Given the description of an element on the screen output the (x, y) to click on. 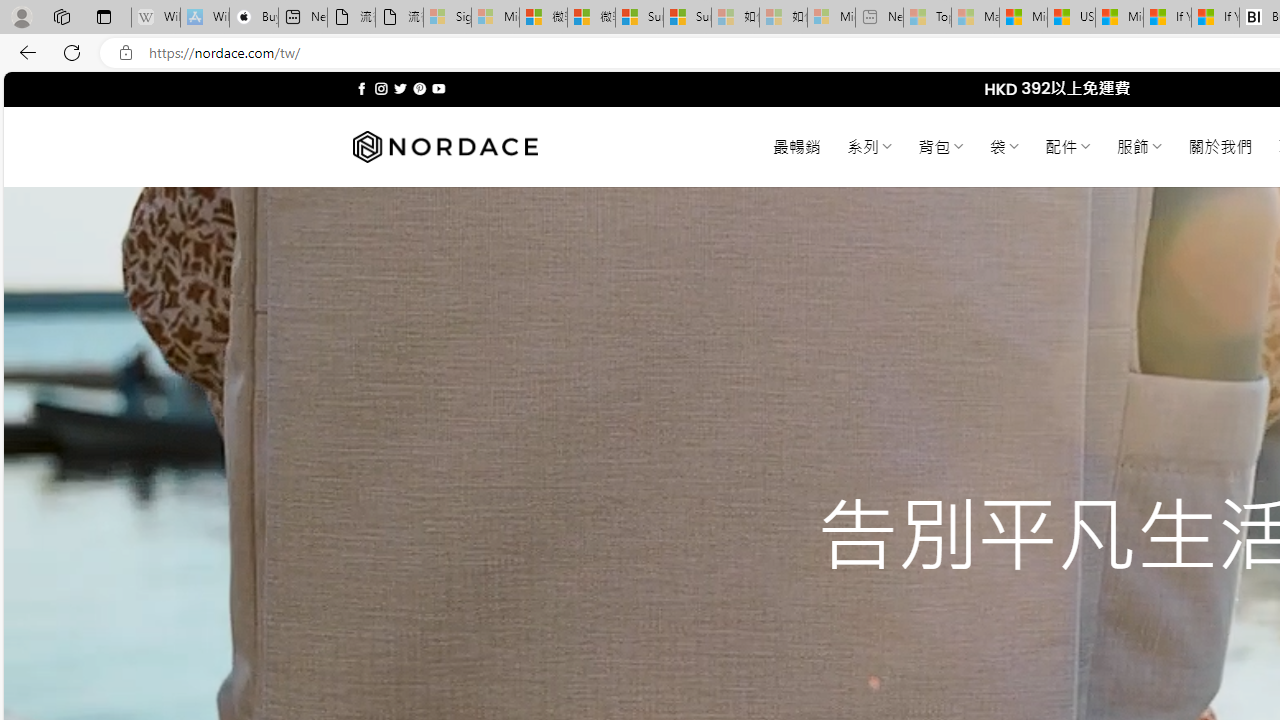
Follow on Pinterest (419, 88)
Microsoft Services Agreement - Sleeping (495, 17)
